Given the description of an element on the screen output the (x, y) to click on. 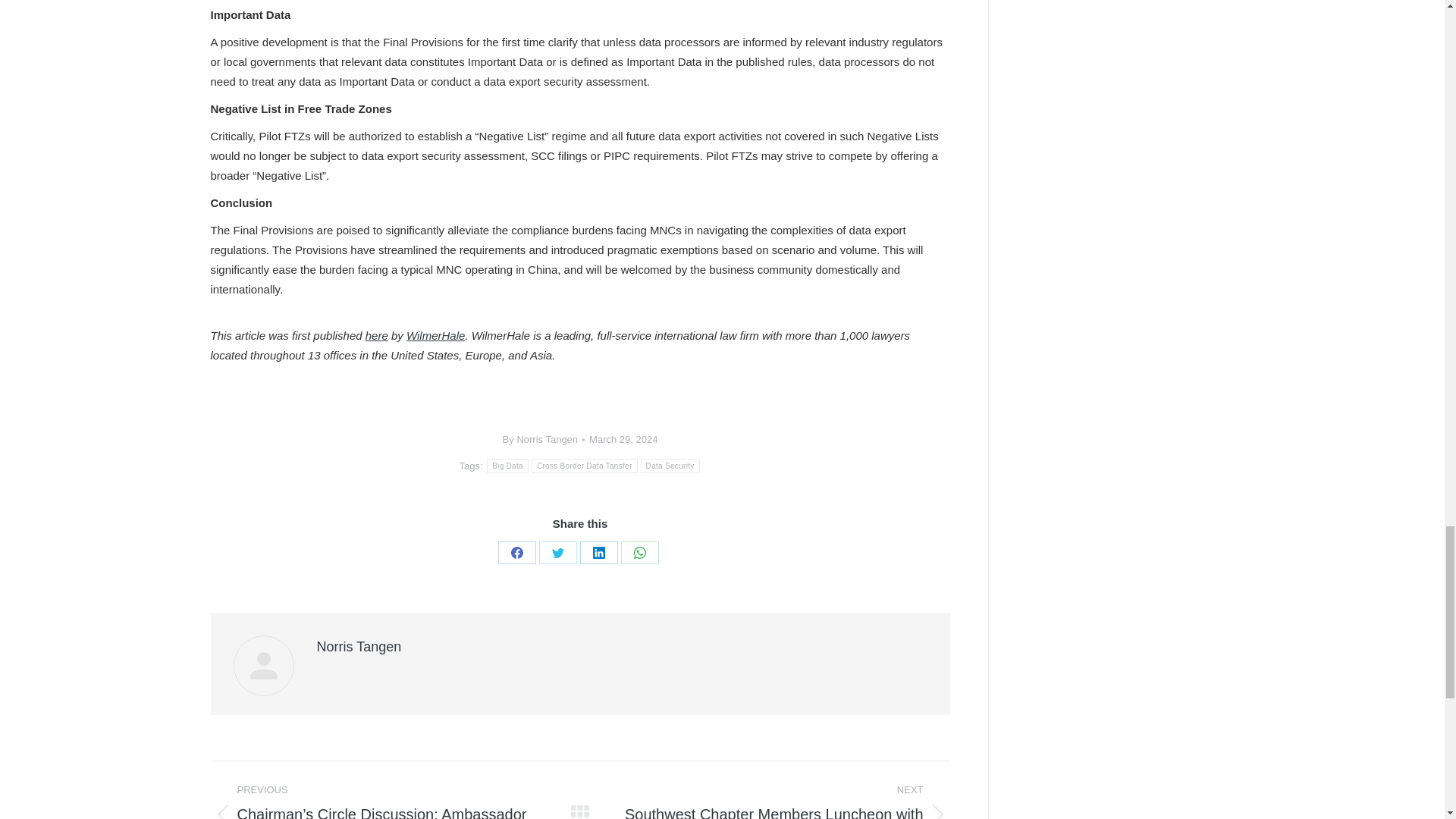
Twitter (557, 552)
WhatsApp (640, 552)
View all posts by Norris Tangen (543, 438)
1:39 am (623, 438)
Facebook (516, 552)
LinkedIn (598, 552)
